Given the description of an element on the screen output the (x, y) to click on. 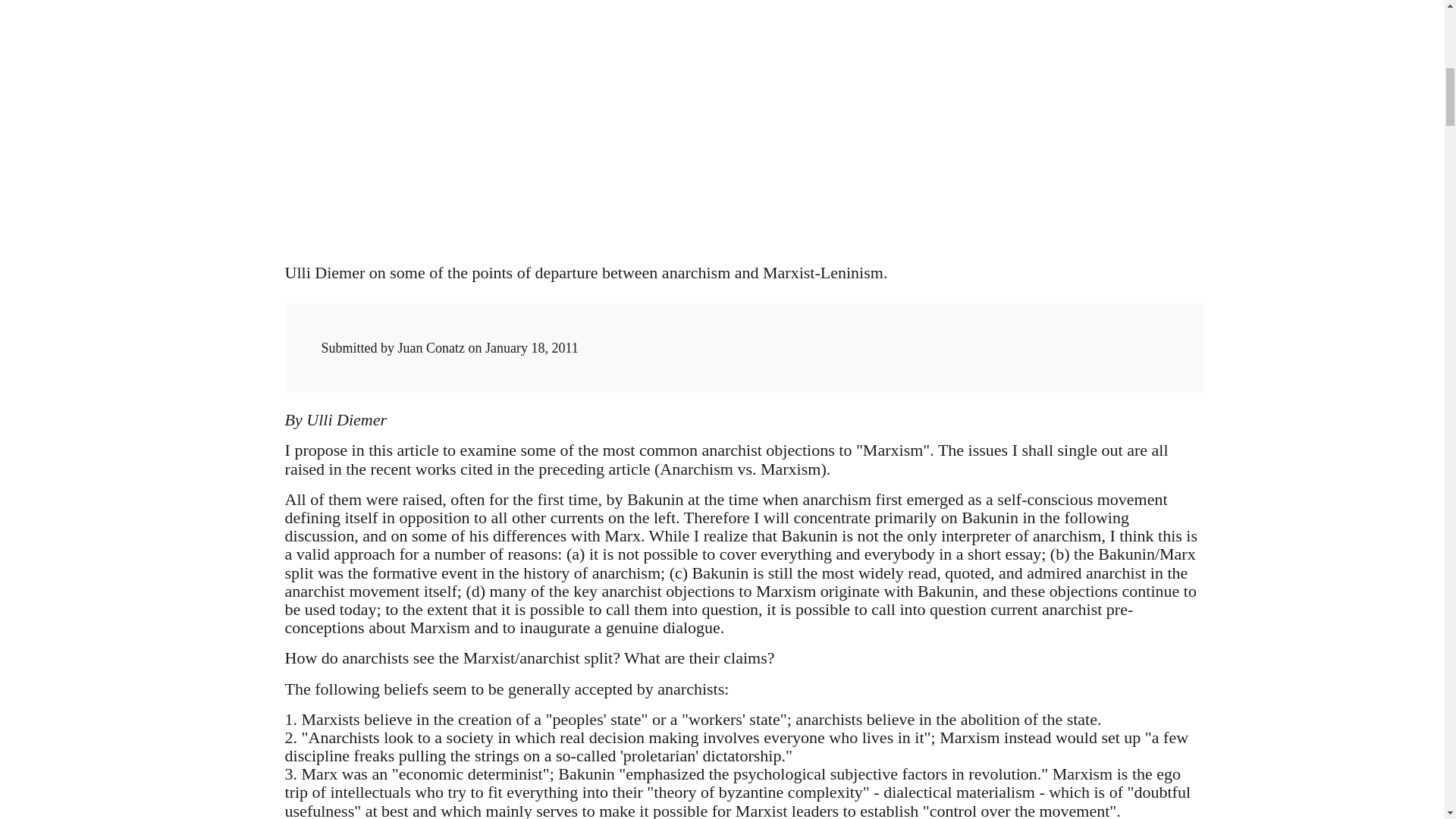
Share to Twitter (945, 333)
Share to Reddit (975, 333)
Share to Facebook (914, 333)
